Given the description of an element on the screen output the (x, y) to click on. 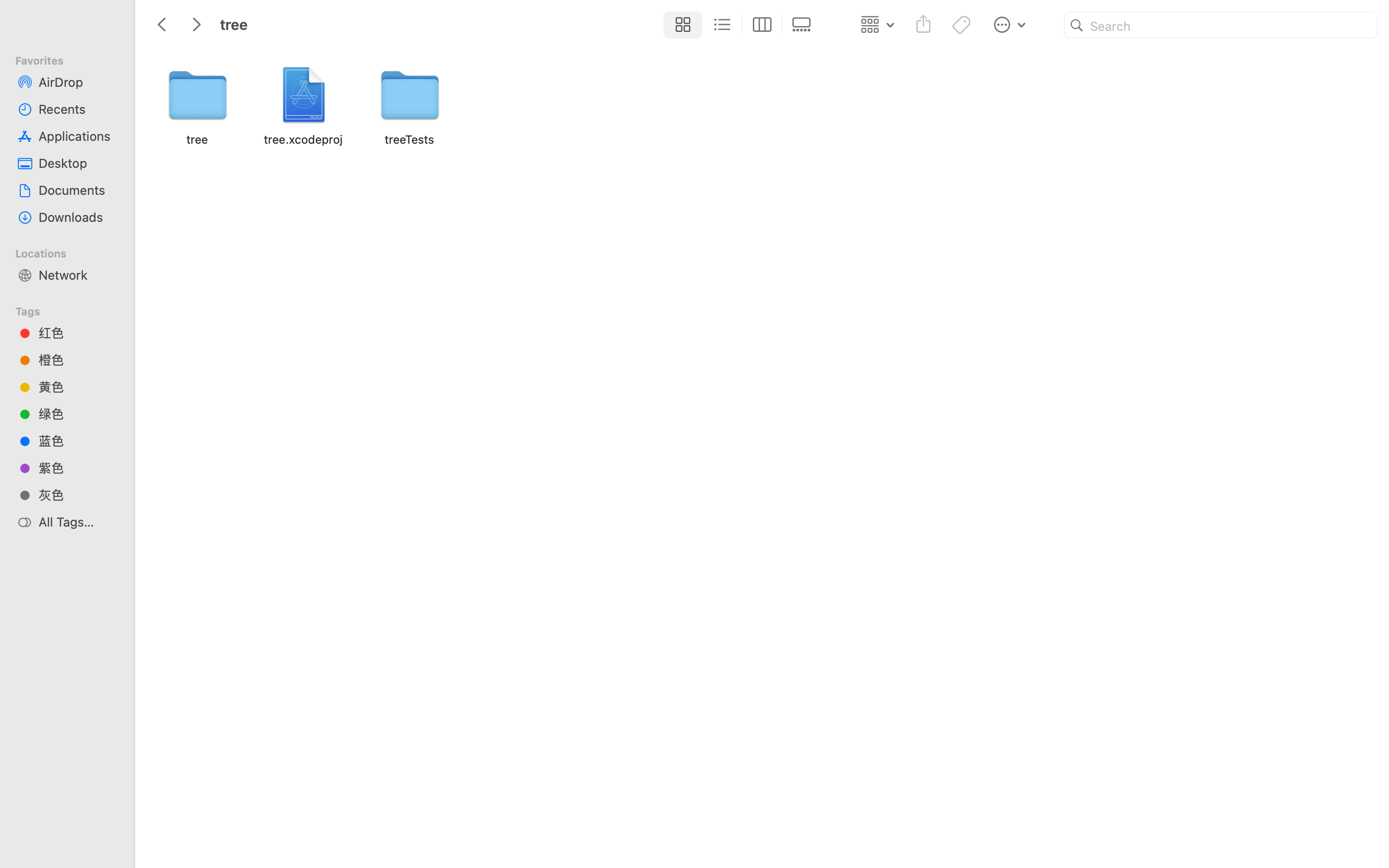
紫色 Element type: AXStaticText (77, 467)
Tags Element type: AXStaticText (72, 309)
Favorites Element type: AXStaticText (72, 59)
Documents Element type: AXStaticText (77, 189)
<AXUIElement 0x14da607b0> {pid=510} Element type: AXRadioGroup (741, 24)
